Given the description of an element on the screen output the (x, y) to click on. 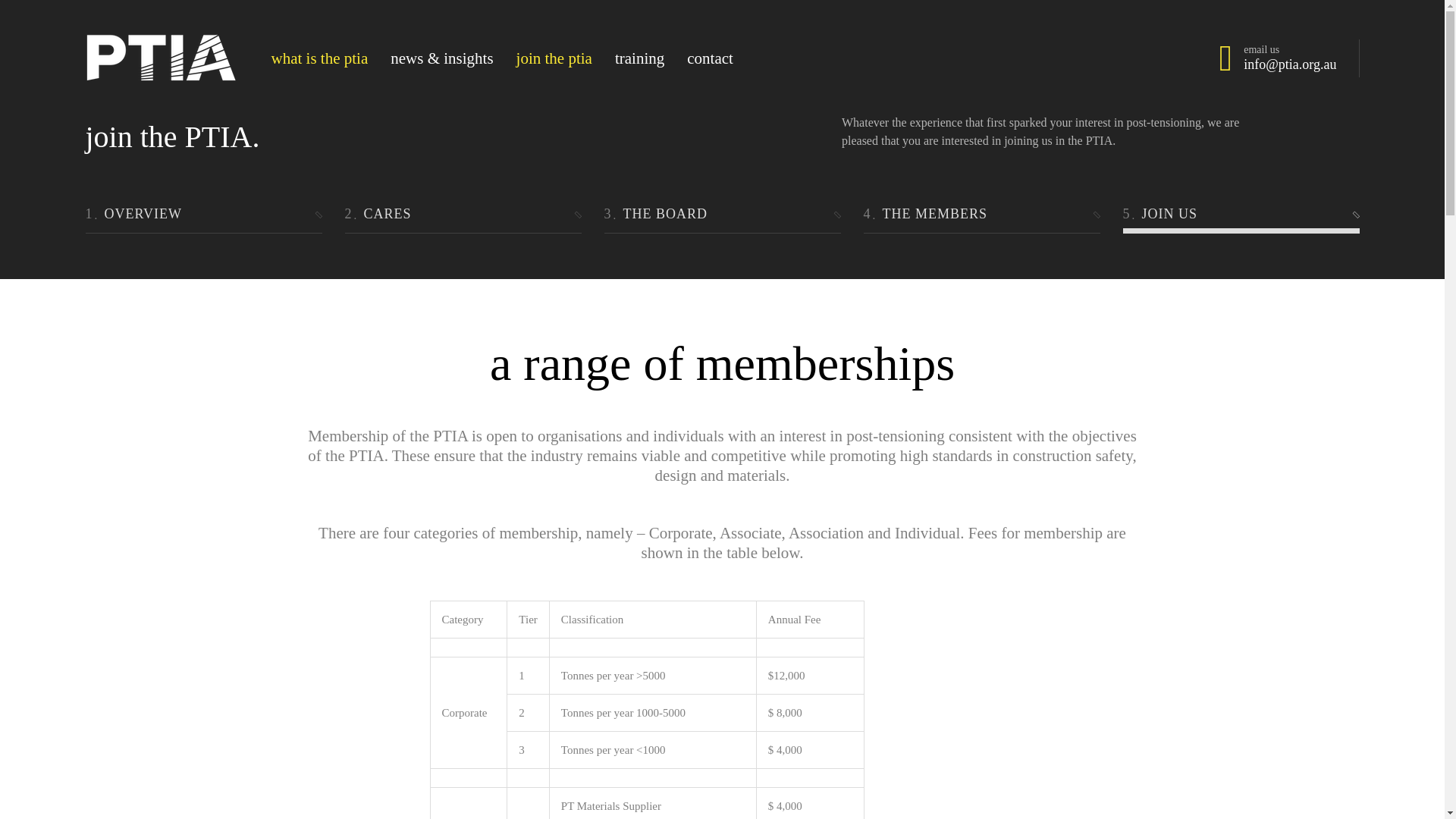
THE MEMBERS (981, 214)
what is the ptia (319, 57)
CARES (461, 214)
THE BOARD (722, 214)
OVERVIEW (202, 214)
contact (710, 57)
JOIN US (1240, 214)
join the ptia (554, 57)
training (638, 57)
